Given the description of an element on the screen output the (x, y) to click on. 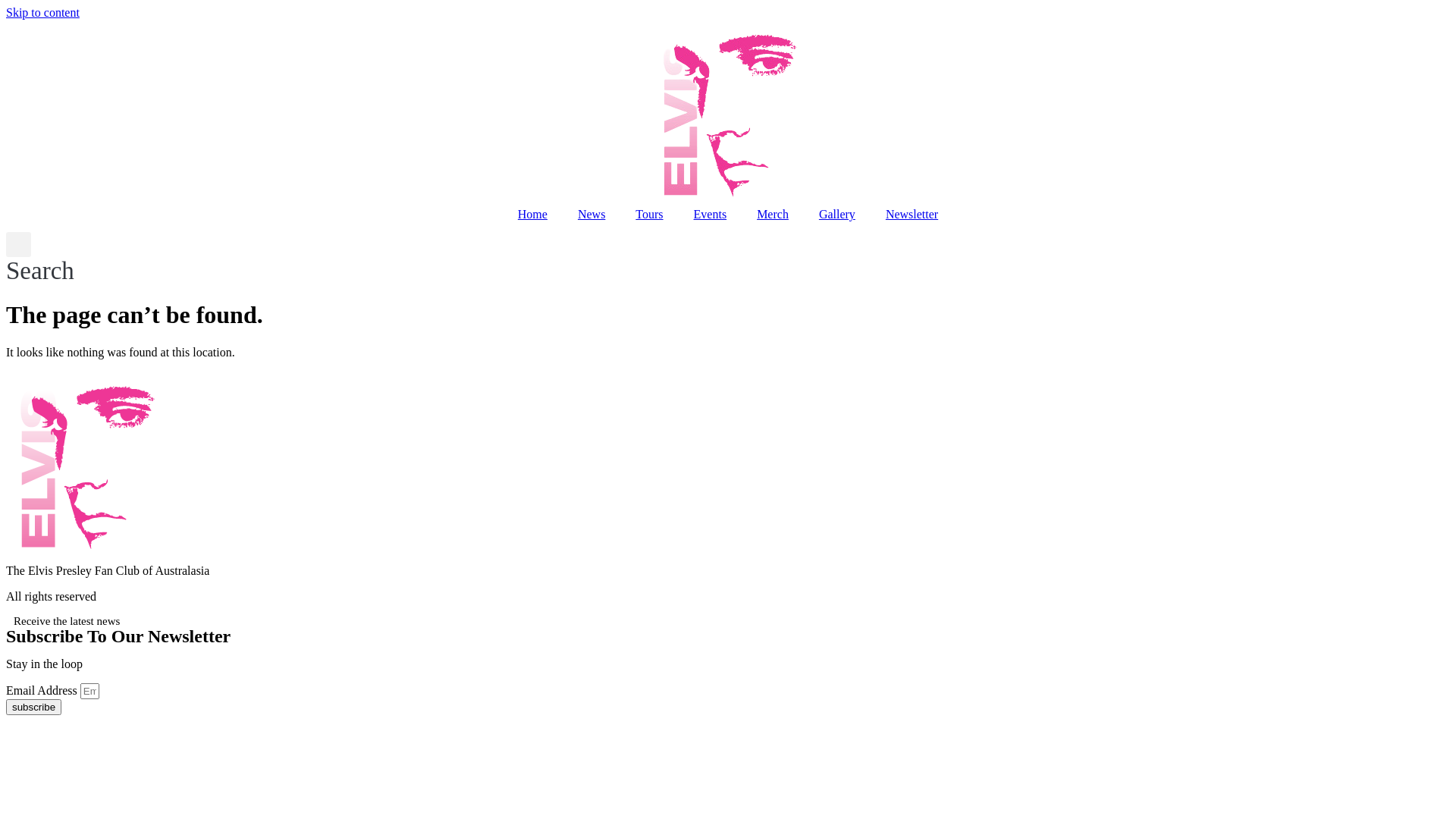
Merch Element type: text (772, 214)
Tours Element type: text (648, 214)
Skip to content Element type: text (42, 12)
News Element type: text (591, 214)
Events Element type: text (710, 214)
Newsletter Element type: text (911, 214)
subscribe Element type: text (33, 707)
Gallery Element type: text (836, 214)
Home Element type: text (532, 214)
